Given the description of an element on the screen output the (x, y) to click on. 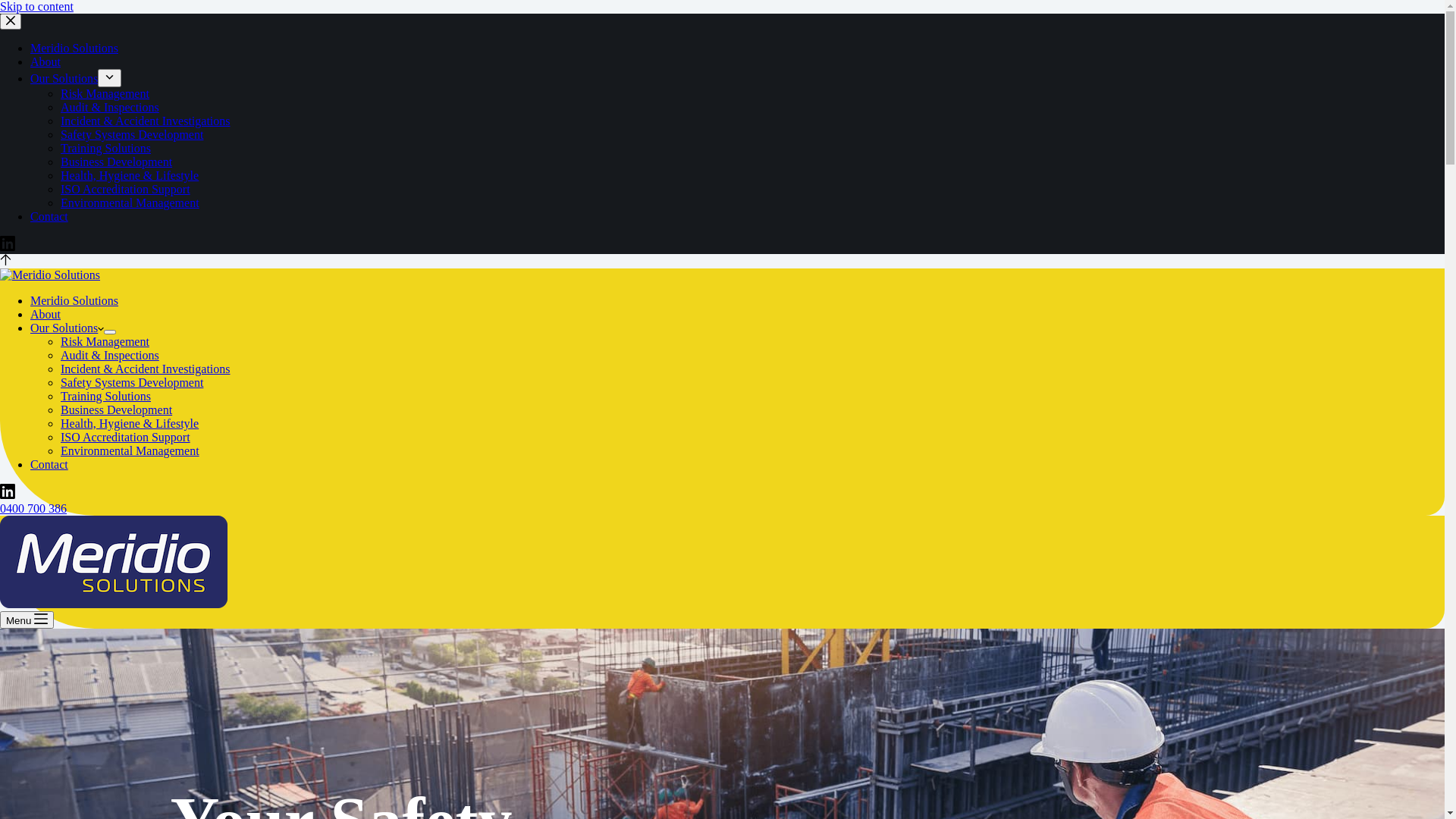
Environmental Management Element type: text (129, 202)
Training Solutions Element type: text (105, 147)
Training Solutions Element type: text (105, 395)
Incident & Accident Investigations Element type: text (145, 120)
Environmental Management Element type: text (129, 450)
Menu Element type: text (26, 619)
Our Solutions Element type: text (63, 78)
Contact Element type: text (49, 216)
Skip to content Element type: text (36, 6)
Risk Management Element type: text (104, 341)
About Element type: text (45, 313)
Health, Hygiene & Lifestyle Element type: text (129, 175)
Safety Systems Development Element type: text (131, 134)
Business Development Element type: text (116, 161)
Our Solutions Element type: text (66, 327)
Meridio Solutions Element type: text (74, 47)
Risk Management Element type: text (104, 93)
Business Development Element type: text (116, 409)
Audit & Inspections Element type: text (109, 106)
Go to top Element type: hover (5, 260)
Health, Hygiene & Lifestyle Element type: text (129, 423)
Audit & Inspections Element type: text (109, 354)
Contact Element type: text (49, 464)
ISO Accreditation Support Element type: text (125, 436)
ISO Accreditation Support Element type: text (125, 188)
Safety Systems Development Element type: text (131, 382)
Meridio Solutions Element type: text (74, 300)
0400 700 386 Element type: text (33, 508)
About Element type: text (45, 61)
Incident & Accident Investigations Element type: text (145, 368)
